Given the description of an element on the screen output the (x, y) to click on. 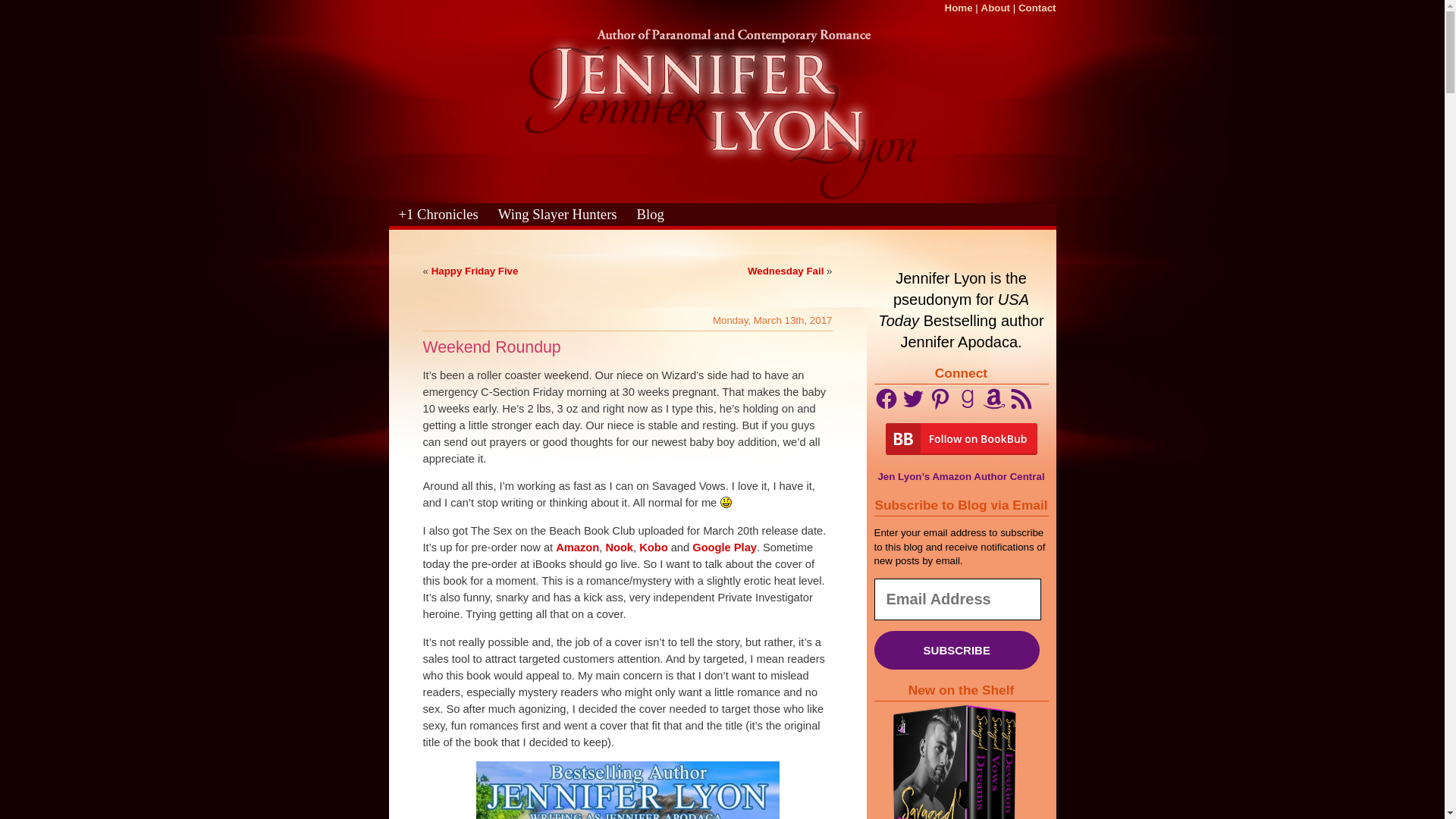
Wing Slayer Hunters (558, 224)
Home (958, 7)
Contact (1037, 7)
Kobo (652, 547)
Wednesday Fail (786, 270)
Nook (619, 547)
Facebook (885, 398)
About (995, 7)
Happy Friday Five (474, 270)
Amazon (577, 547)
Google Play (725, 547)
